Given the description of an element on the screen output the (x, y) to click on. 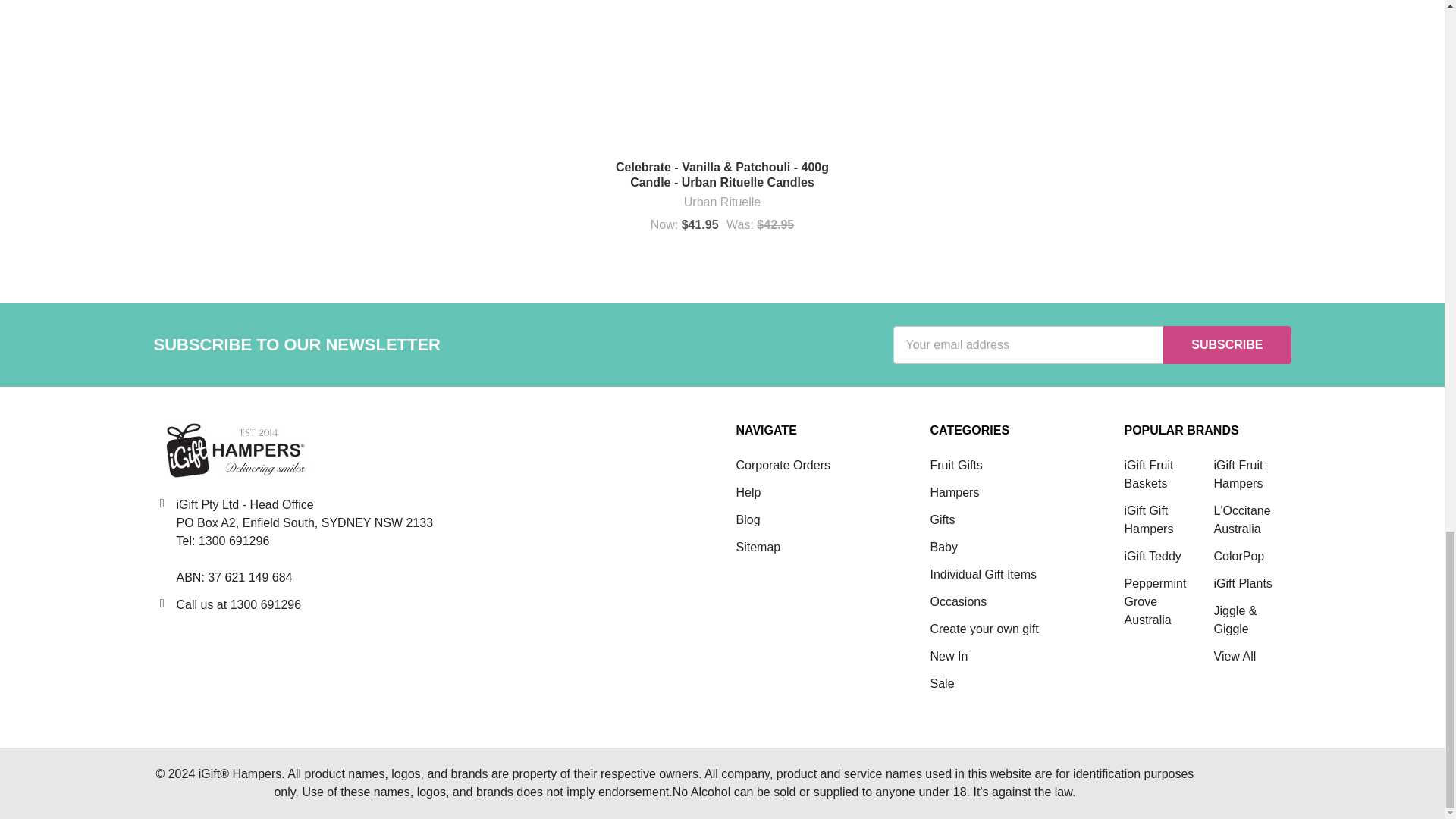
Instagram (294, 646)
X (198, 646)
Youtube (262, 646)
Pinterest (230, 646)
igiftFRUITHAMPERS (233, 450)
Facebook (166, 646)
Subscribe (1226, 344)
